Given the description of an element on the screen output the (x, y) to click on. 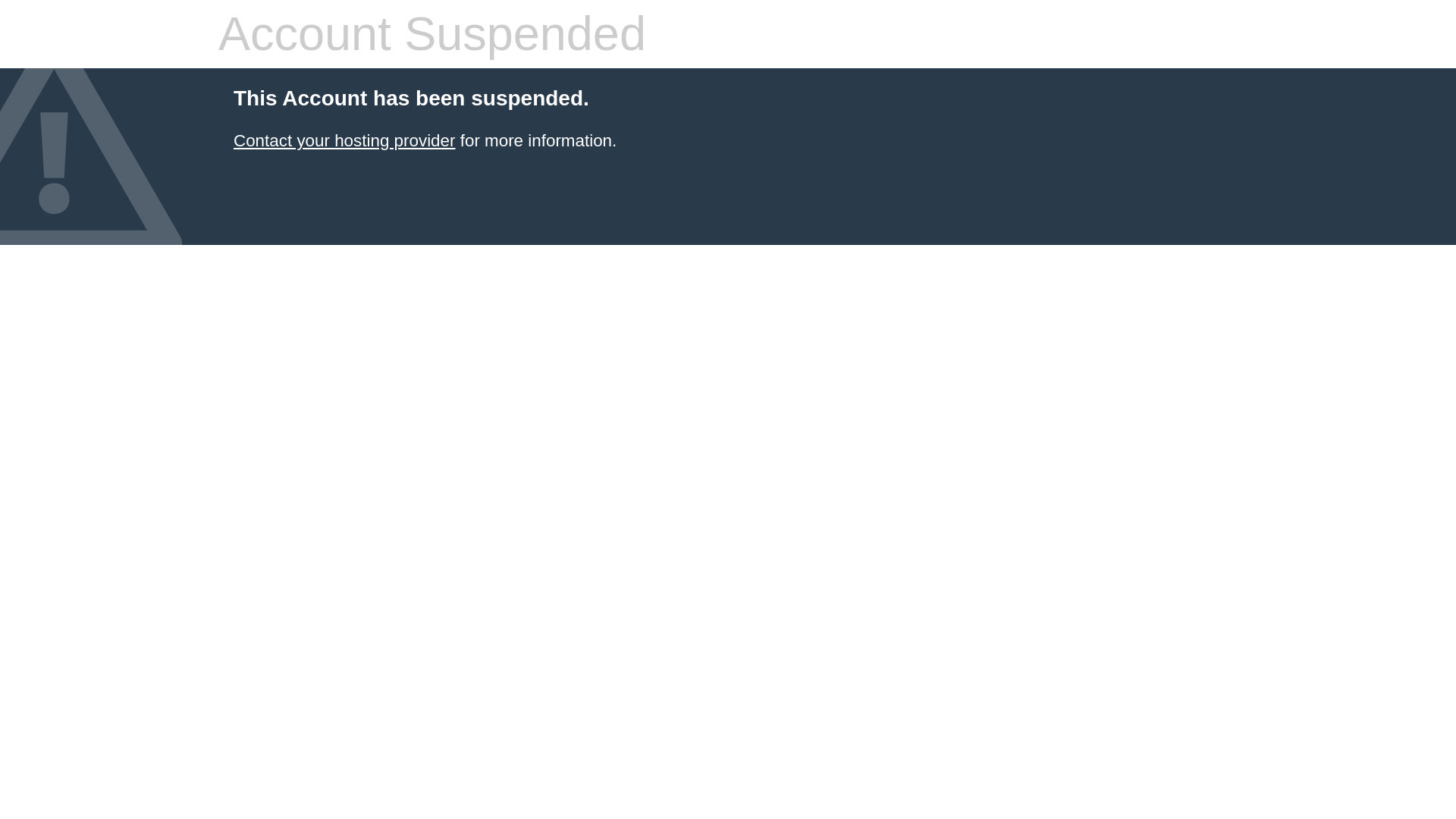
Contact your hosting provider (343, 140)
